Given the description of an element on the screen output the (x, y) to click on. 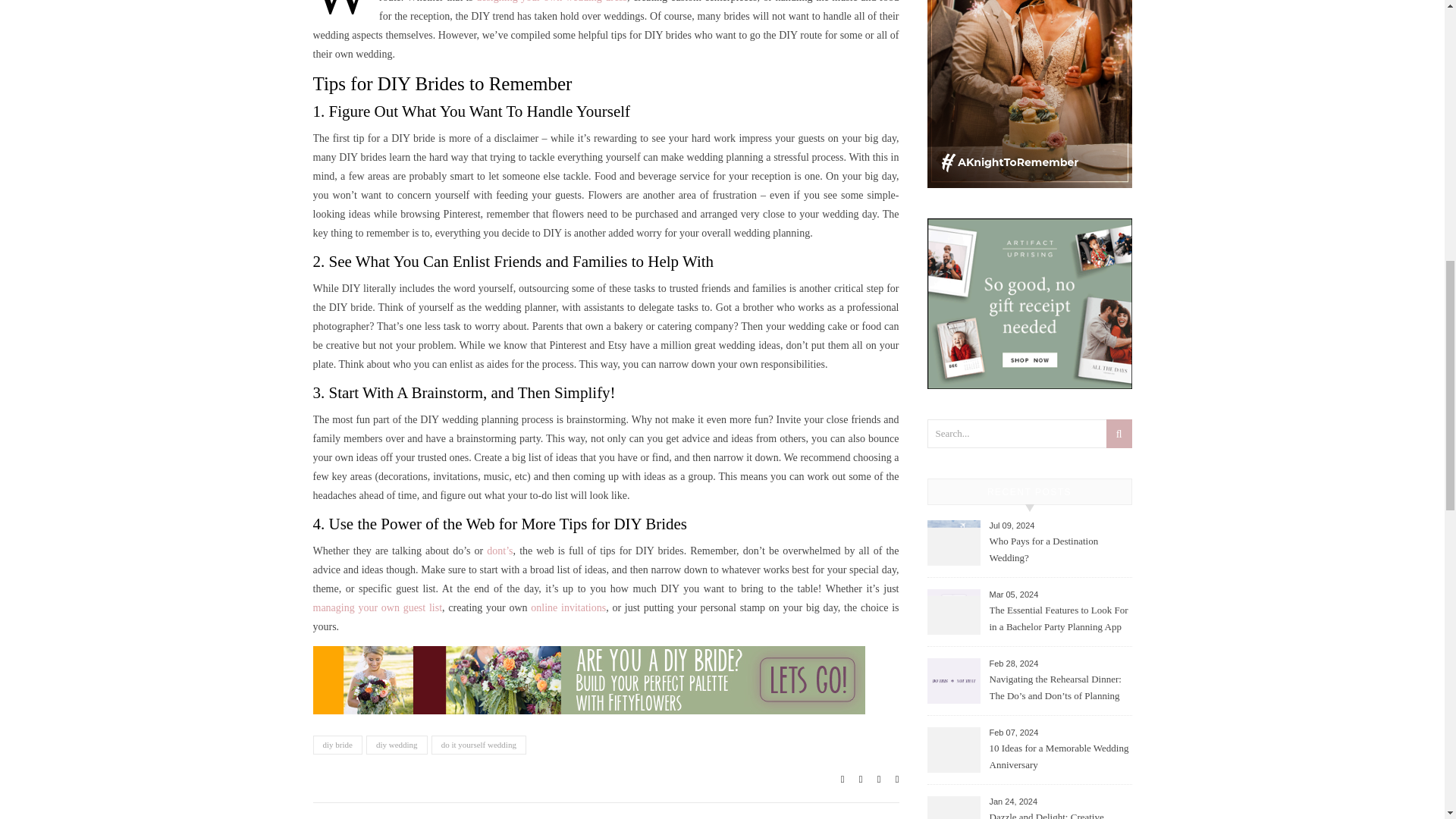
do it yourself wedding (477, 744)
designing your own wedding dress (551, 1)
diy bride (337, 744)
online invitations (568, 607)
managing your own guest list (377, 607)
diy wedding (397, 744)
